Given the description of an element on the screen output the (x, y) to click on. 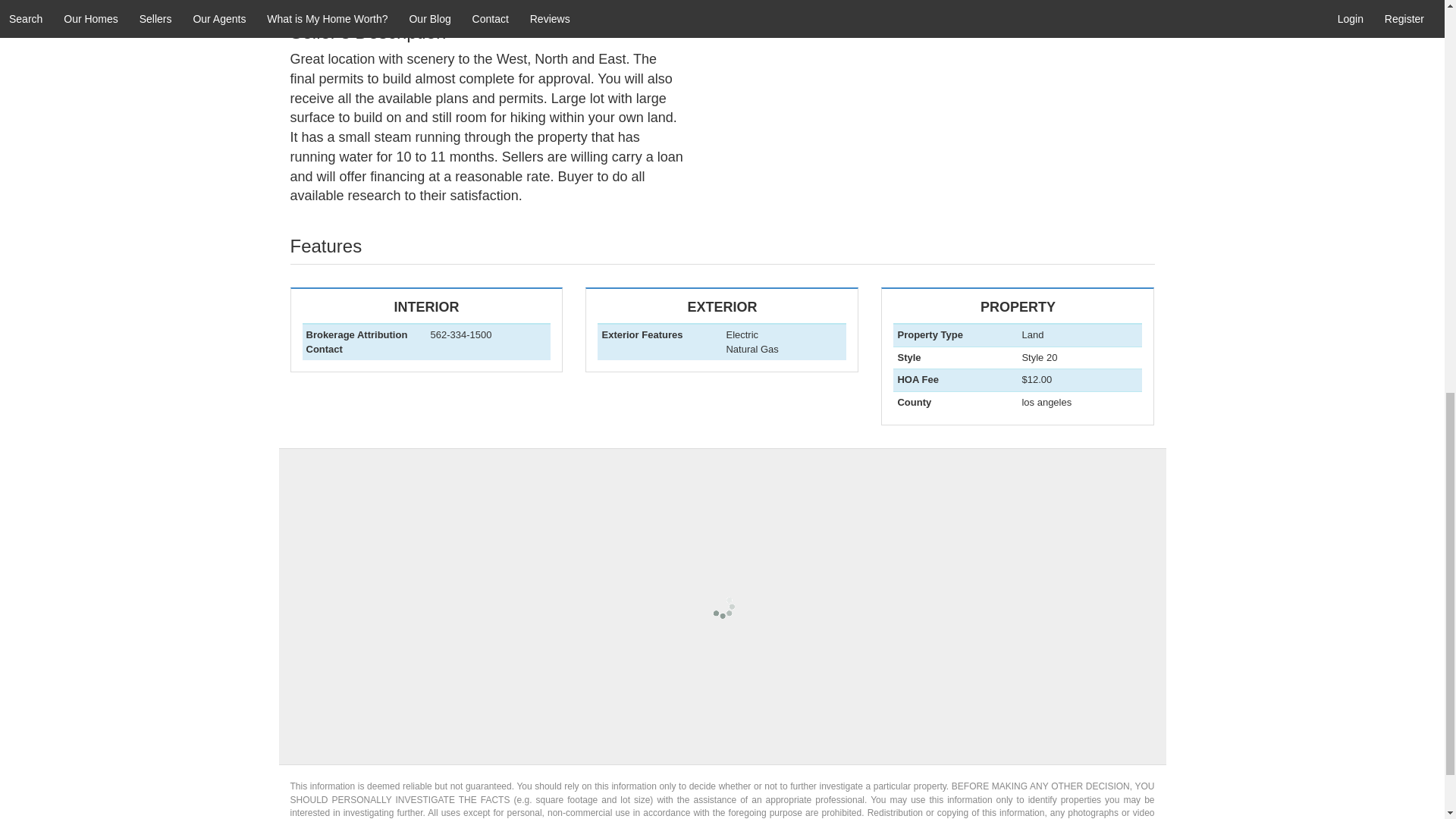
Brokerage Attribution Contact 562-334-1500 (722, 329)
Brokerage Attribution Contact 562-334-1500 (425, 347)
